Given the description of an element on the screen output the (x, y) to click on. 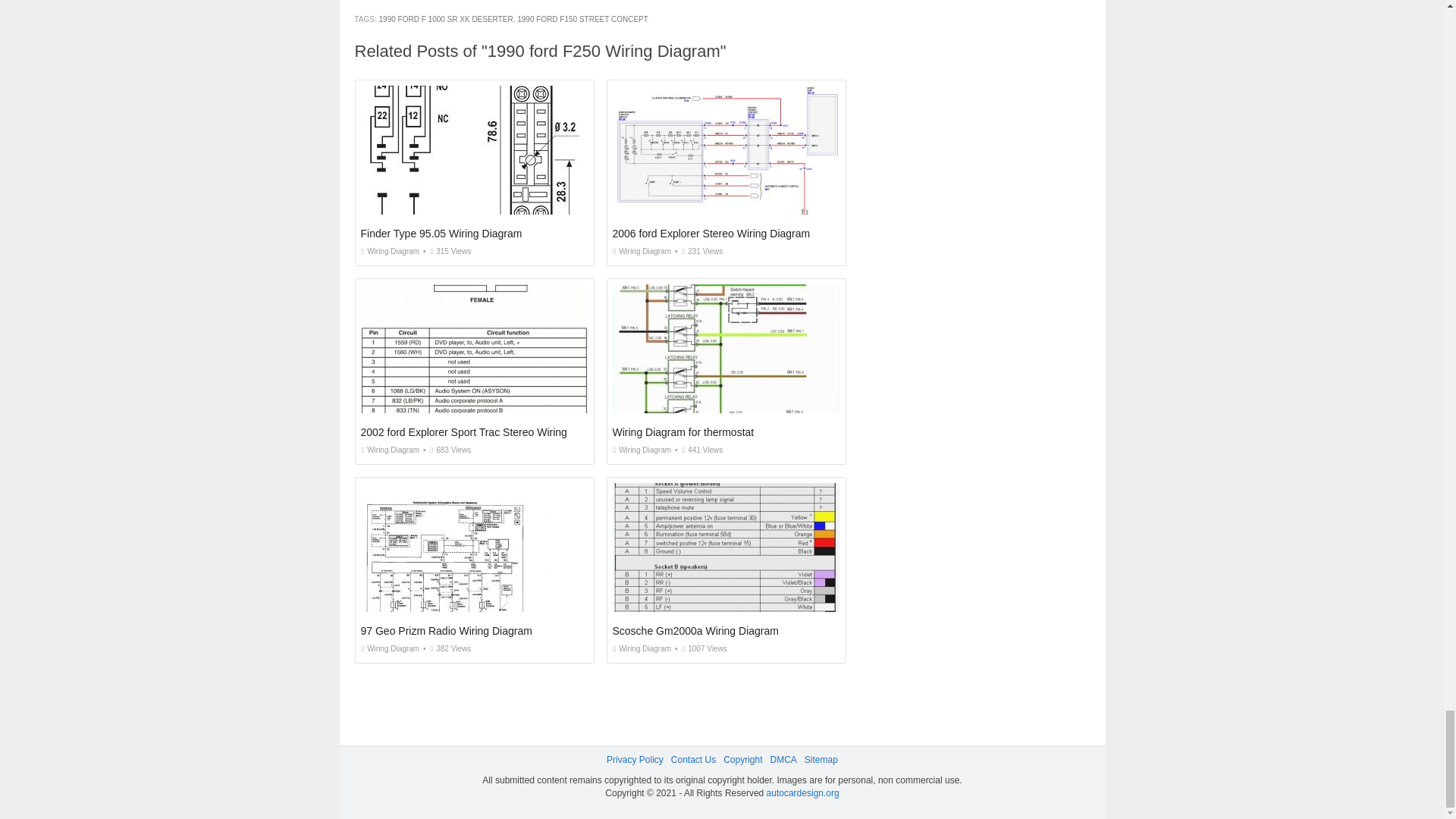
Finder Type 95.05 Wiring Diagram (441, 233)
1990 FORD F150 STREET CONCEPT (581, 19)
Wiring Diagram (390, 251)
Wiring Diagram (641, 449)
97 Geo Prizm Radio Wiring Diagram (446, 630)
Wiring Diagram for thermostat (683, 431)
Wiring Diagram (641, 251)
2002 ford Explorer Sport Trac Stereo Wiring Diagram (485, 431)
2006 ford Explorer Stereo Wiring Diagram (711, 233)
1990 FORD F 1000 SR XK DESERTER (445, 19)
